Given the description of an element on the screen output the (x, y) to click on. 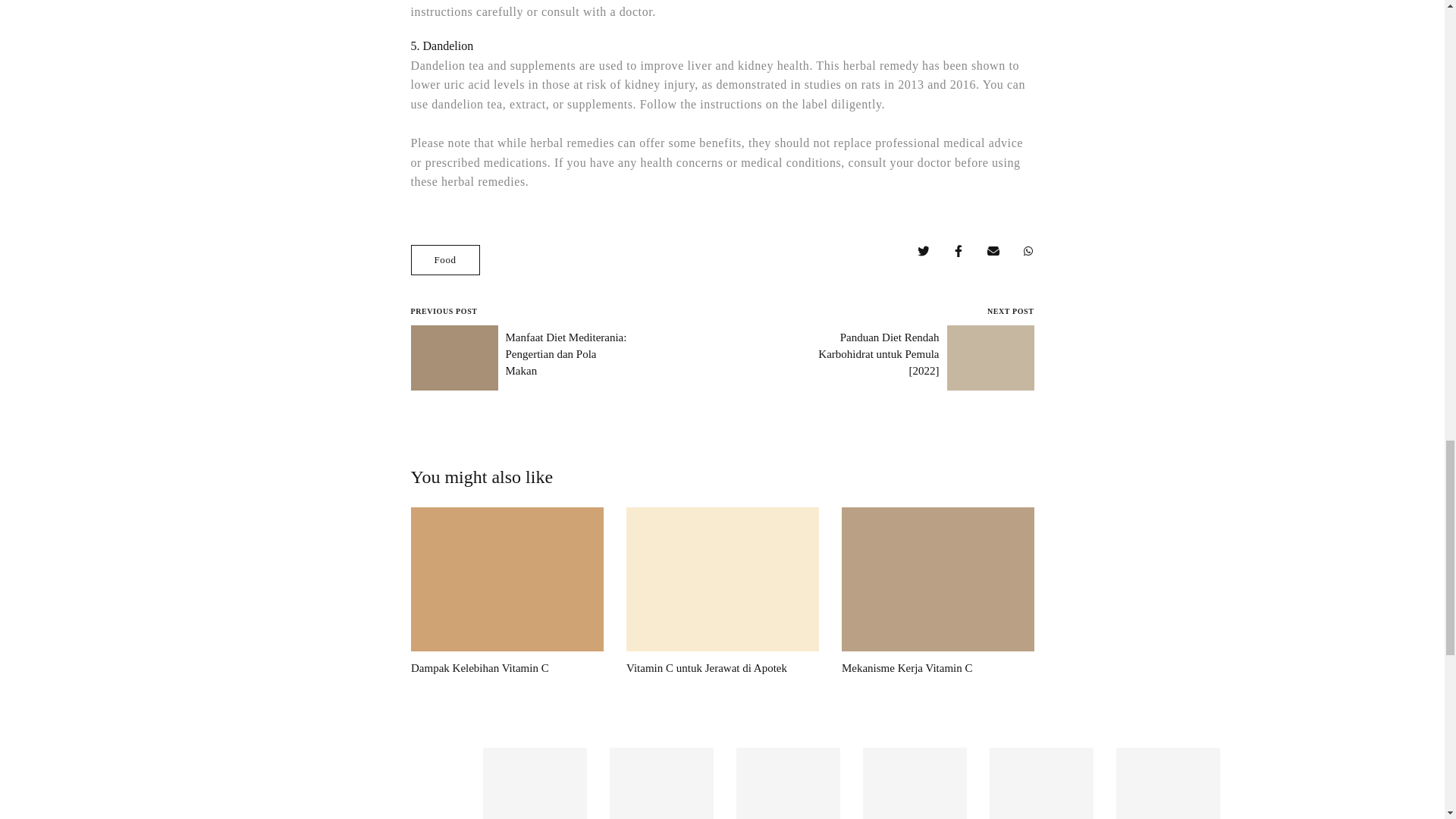
Manfaat Diet Mediterania: Pengertian dan Pola Makan (565, 353)
PREVIOUS POST (443, 311)
NEXT POST (1010, 311)
Vitamin C untuk Jerawat di Apotek (706, 667)
Mekanisme Kerja Vitamin C (906, 667)
Dampak Kelebihan Vitamin C (479, 667)
Food (445, 259)
